Given the description of an element on the screen output the (x, y) to click on. 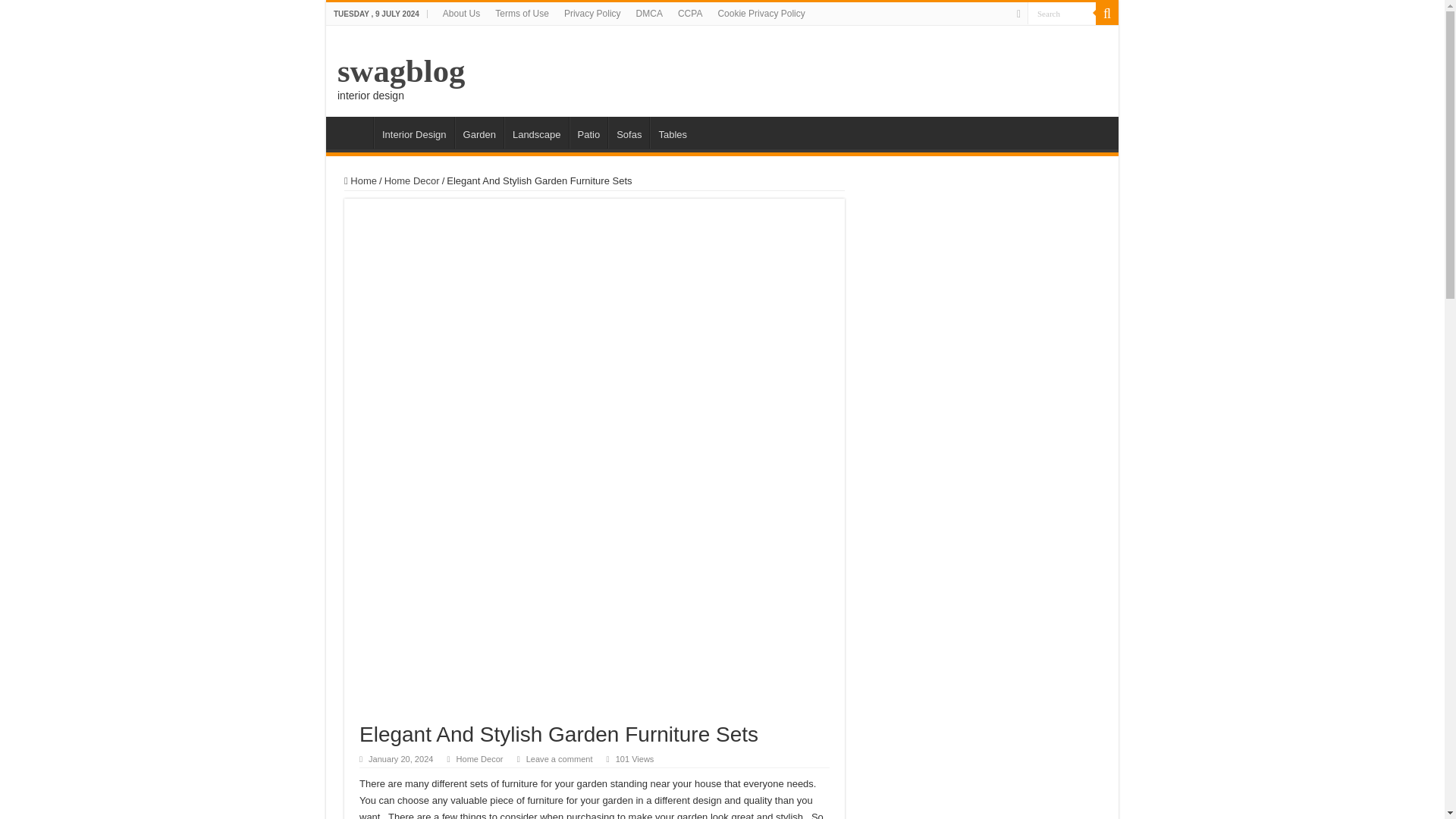
Home (360, 180)
Search (1061, 13)
Garden (478, 132)
About Us (461, 13)
Search (1107, 13)
Home (352, 132)
Home Decor (411, 180)
Home Decor (480, 758)
Landscape (536, 132)
Tables (671, 132)
